Given the description of an element on the screen output the (x, y) to click on. 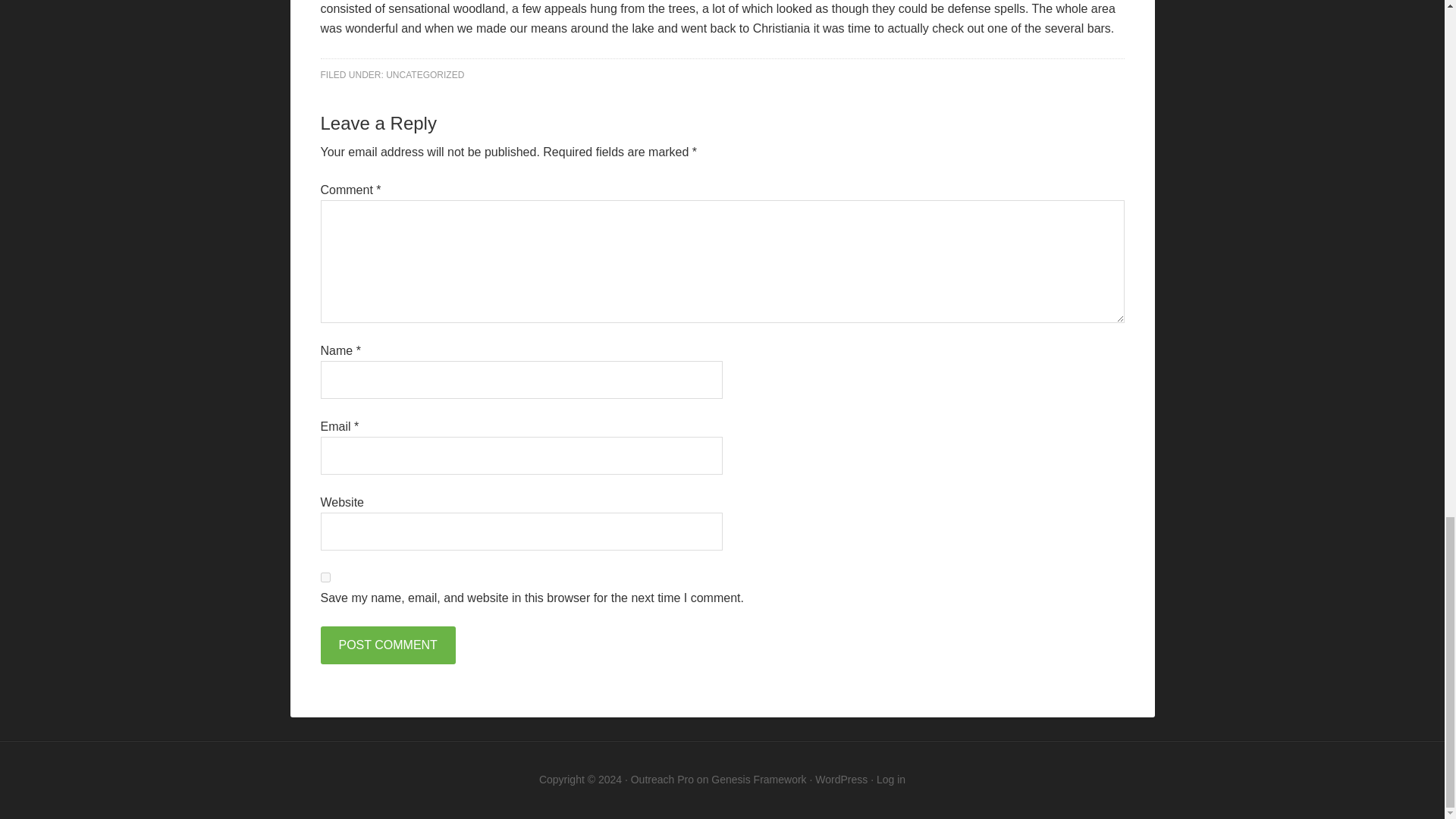
Post Comment (387, 645)
yes (325, 577)
UNCATEGORIZED (424, 74)
Log in (890, 779)
WordPress (841, 779)
Post Comment (387, 645)
Outreach Pro (662, 779)
Genesis Framework (758, 779)
